Given the description of an element on the screen output the (x, y) to click on. 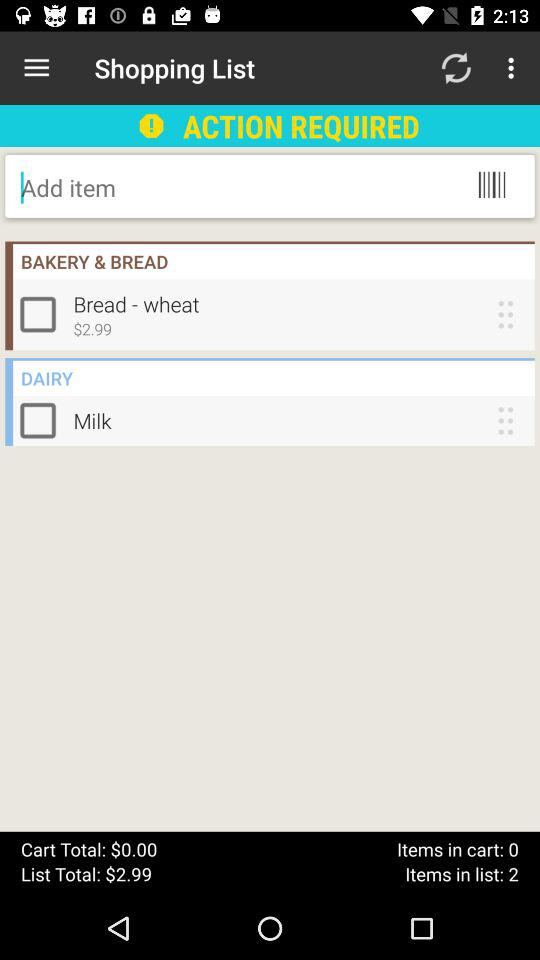
shows mark box (41, 420)
